Given the description of an element on the screen output the (x, y) to click on. 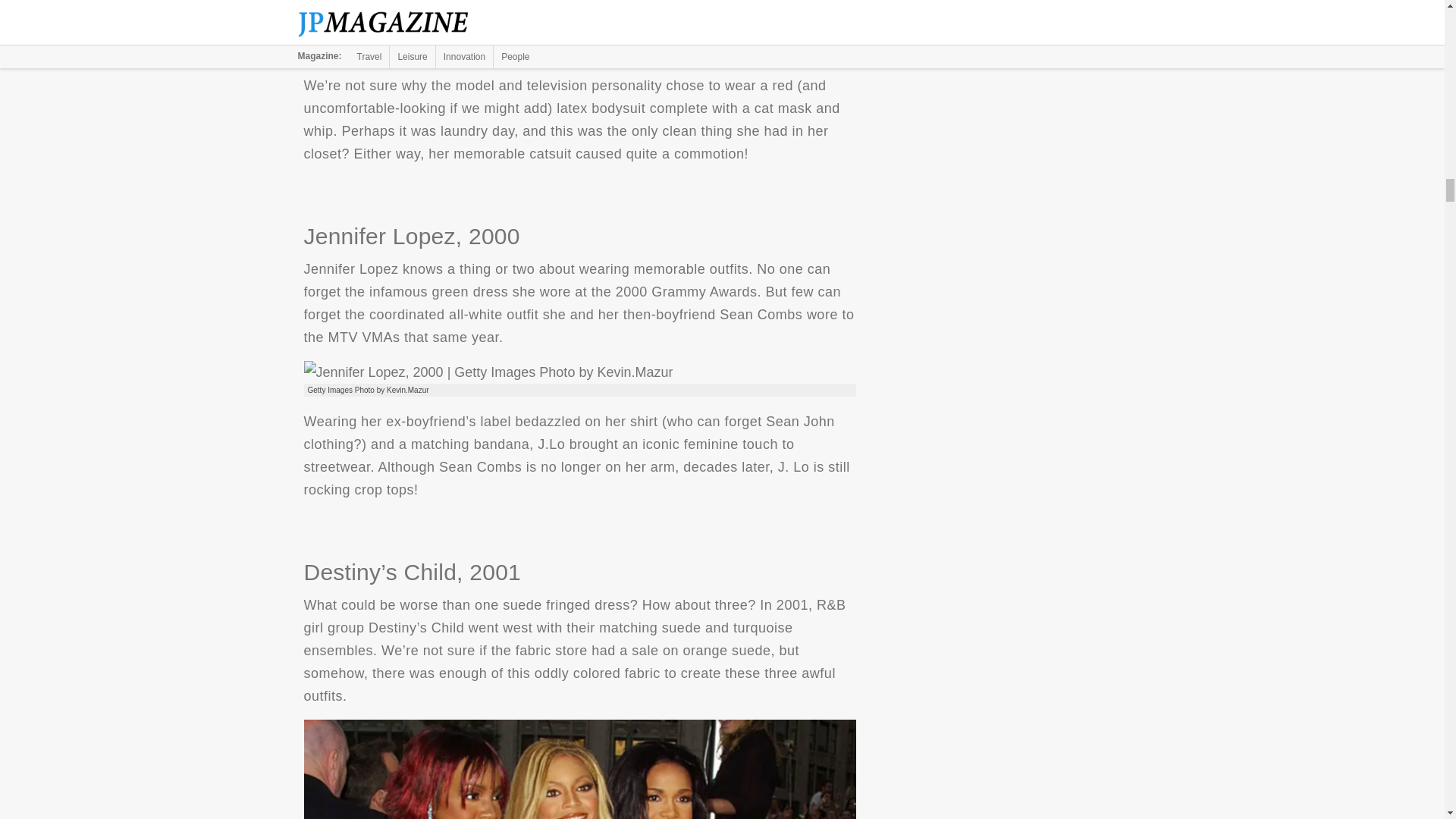
Amber Rose, 2018 (501, 36)
Jennifer Lopez, 2000 (487, 372)
